Given the description of an element on the screen output the (x, y) to click on. 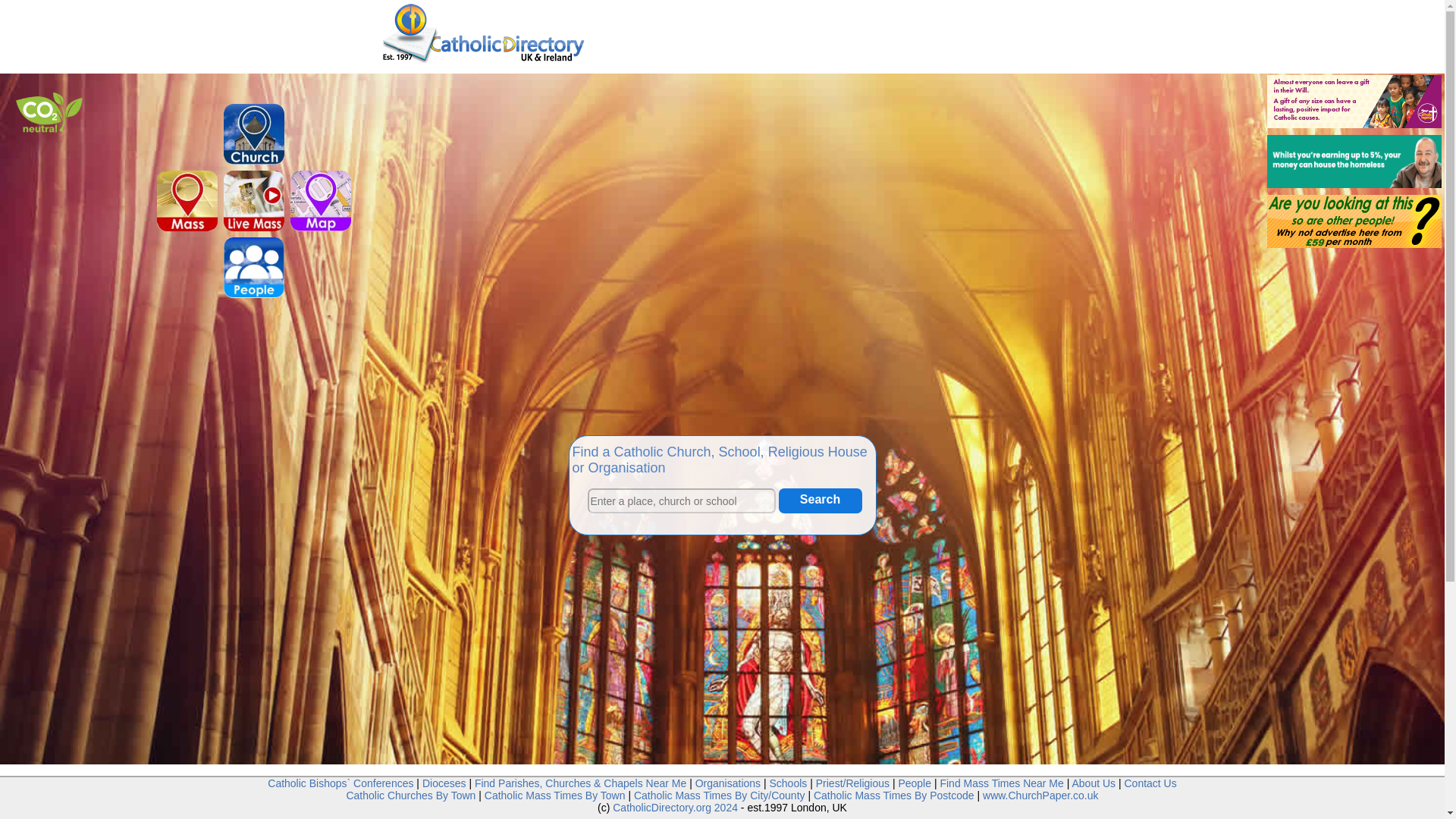
Catholic School Near Me (904, 810)
Catholic Mass Times Near Me (1066, 810)
About Us (1093, 783)
Dioceses (443, 783)
Catholic Churches (826, 810)
Catholic Mass Near Me (187, 228)
Organisations (970, 810)
Organisations (727, 783)
Catholic Directory - Find a Church Near Me (482, 34)
Find Catholic Parishes, Churches and Chapels Near Me (579, 783)
Catholic Church Near Me (826, 810)
Catholic Churches By Town (411, 795)
Your Catholic Legacy:  (1353, 101)
www.ChurchPaper.co.uk (1040, 795)
